Given the description of an element on the screen output the (x, y) to click on. 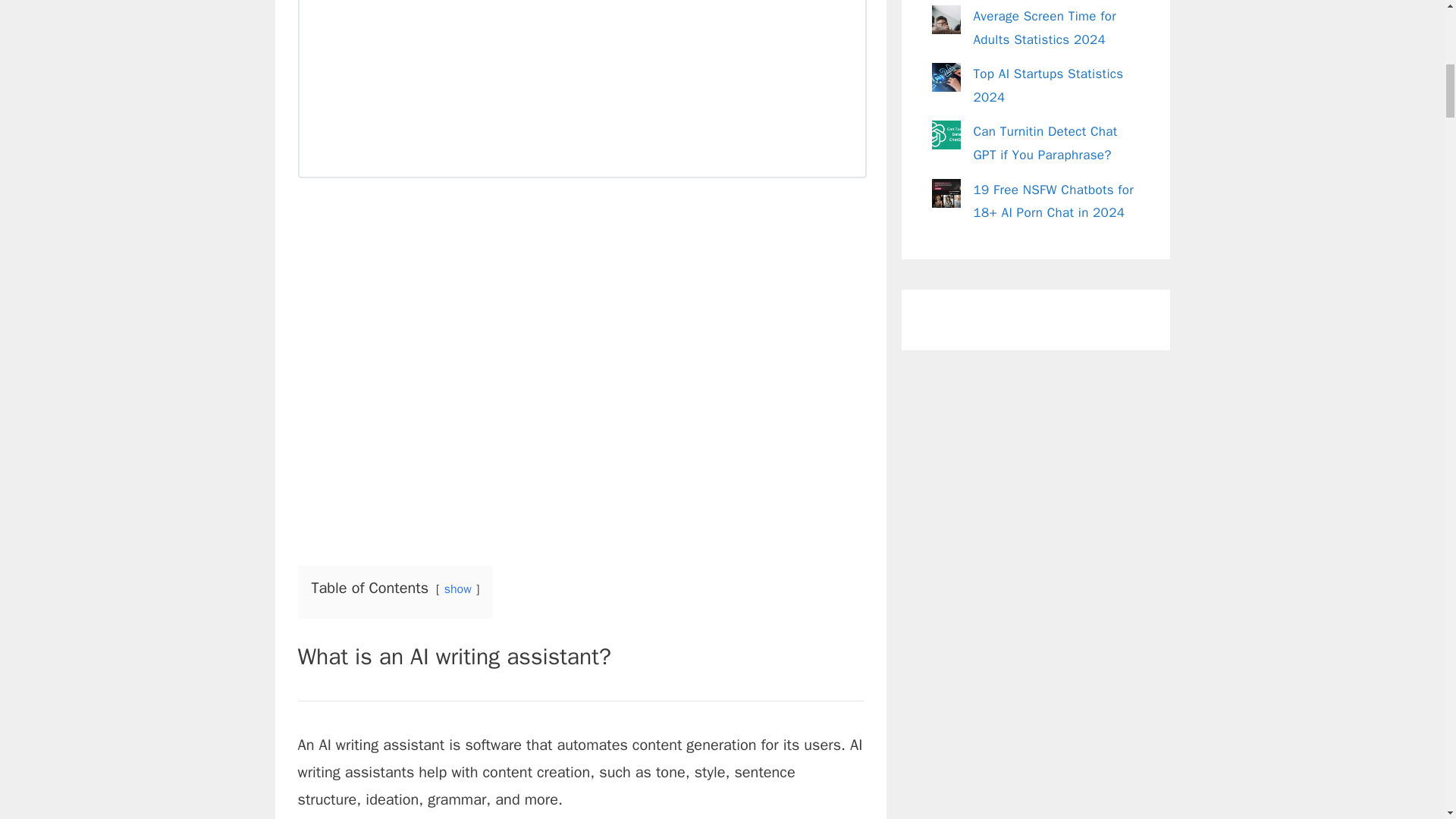
show (457, 589)
